Given the description of an element on the screen output the (x, y) to click on. 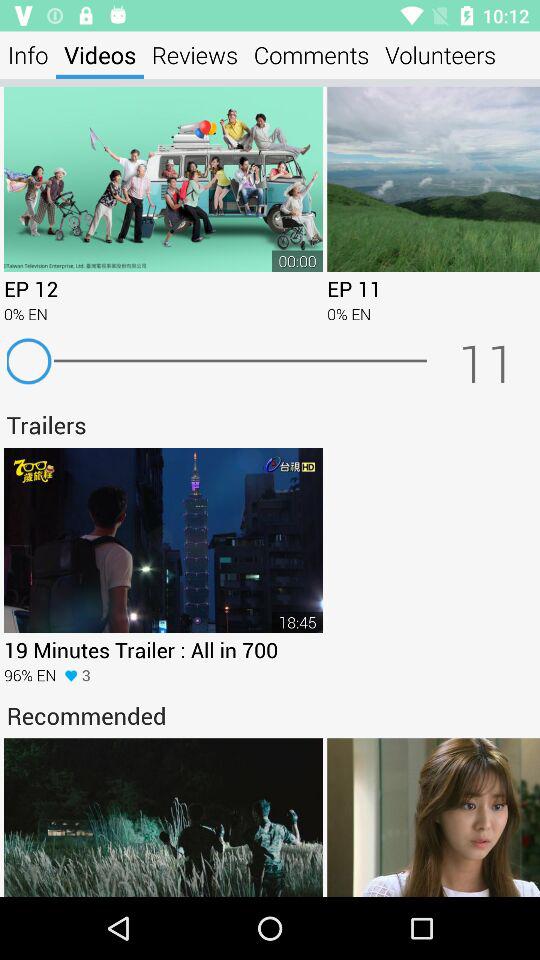
swipe to the reviews icon (195, 54)
